Given the description of an element on the screen output the (x, y) to click on. 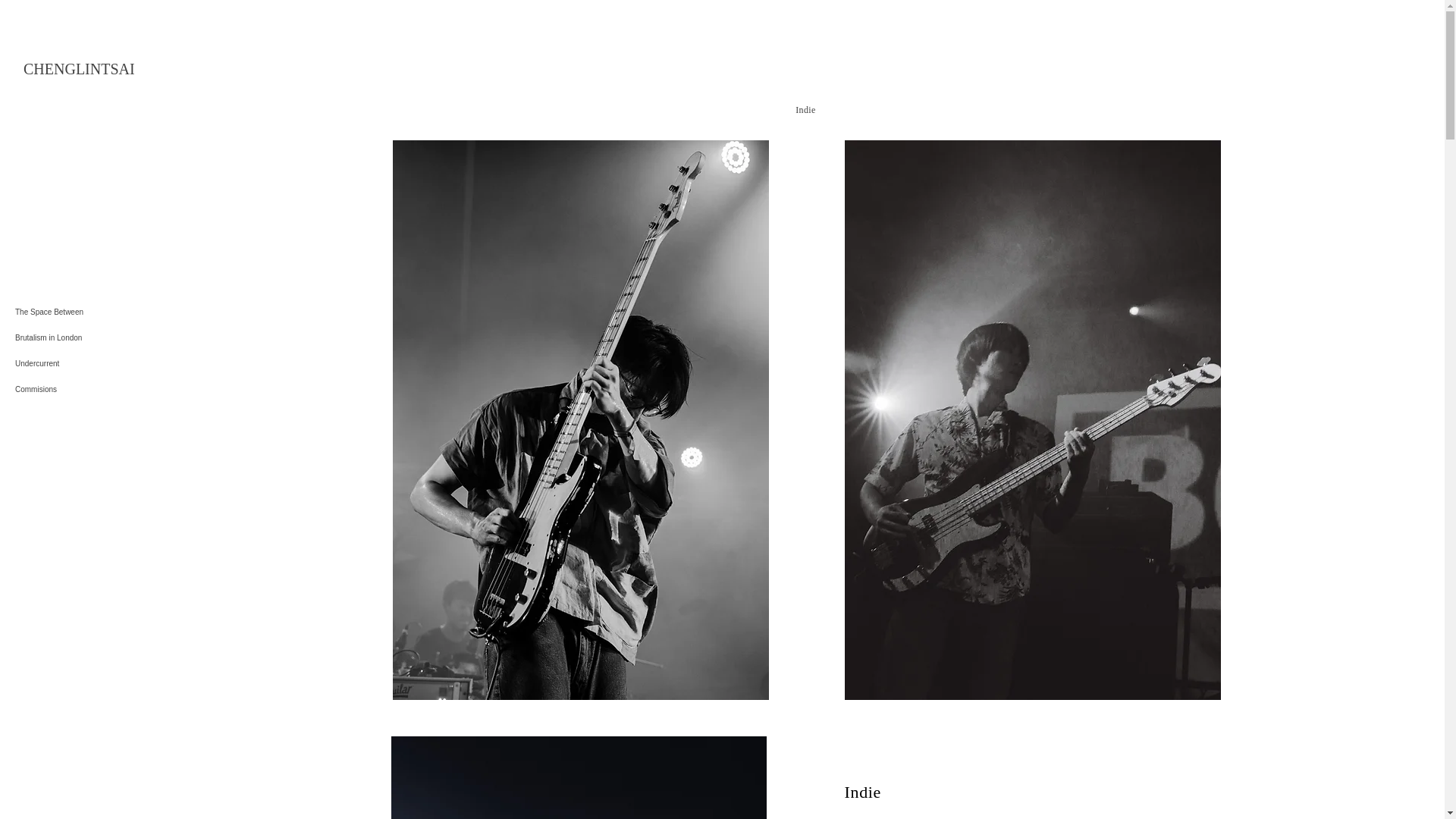
Undercurrent (100, 363)
The Space Between (100, 312)
CHENGLINTSAI (79, 68)
Brutalism in London (100, 338)
